Given the description of an element on the screen output the (x, y) to click on. 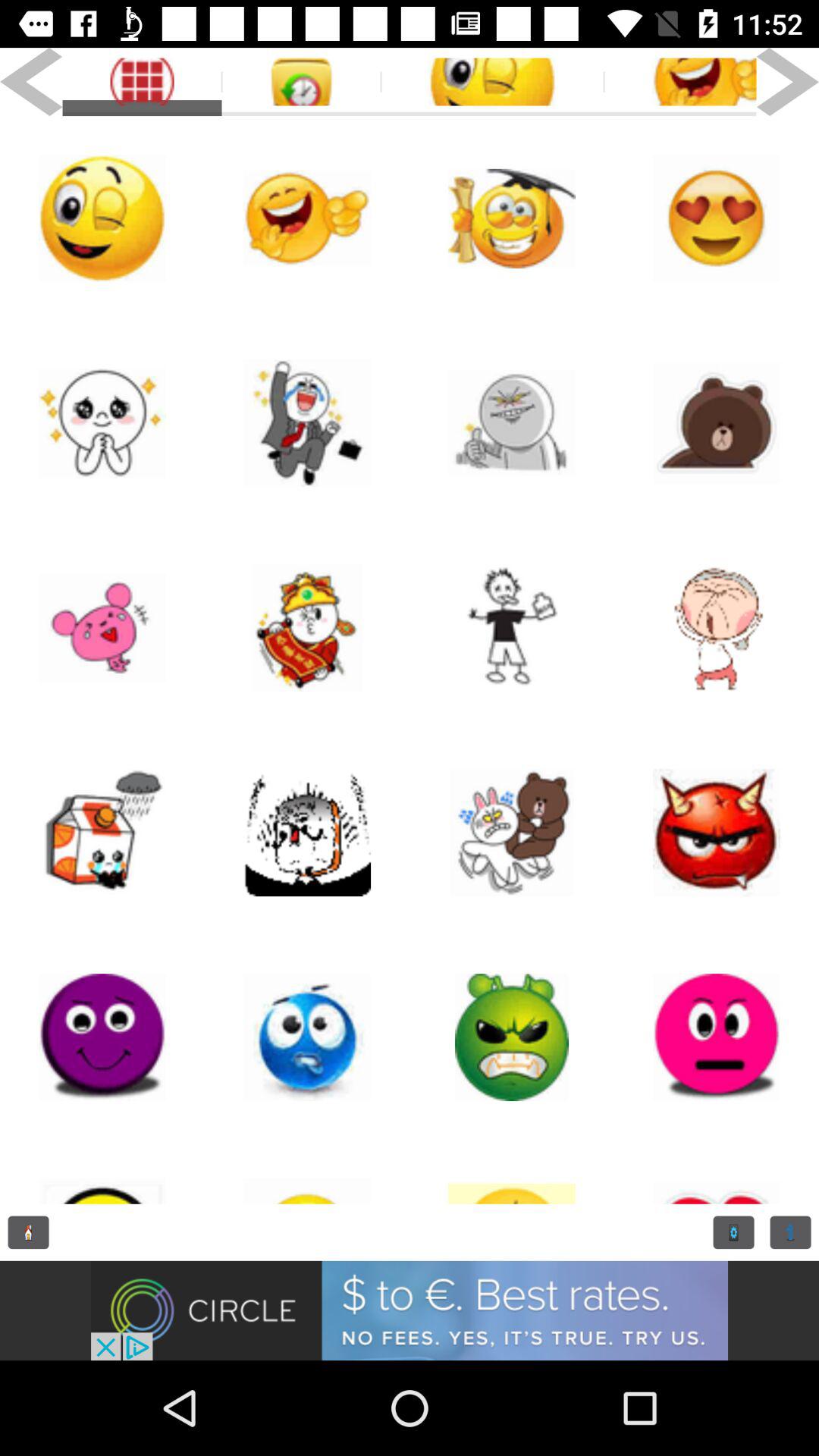
select an emoji (716, 832)
